Given the description of an element on the screen output the (x, y) to click on. 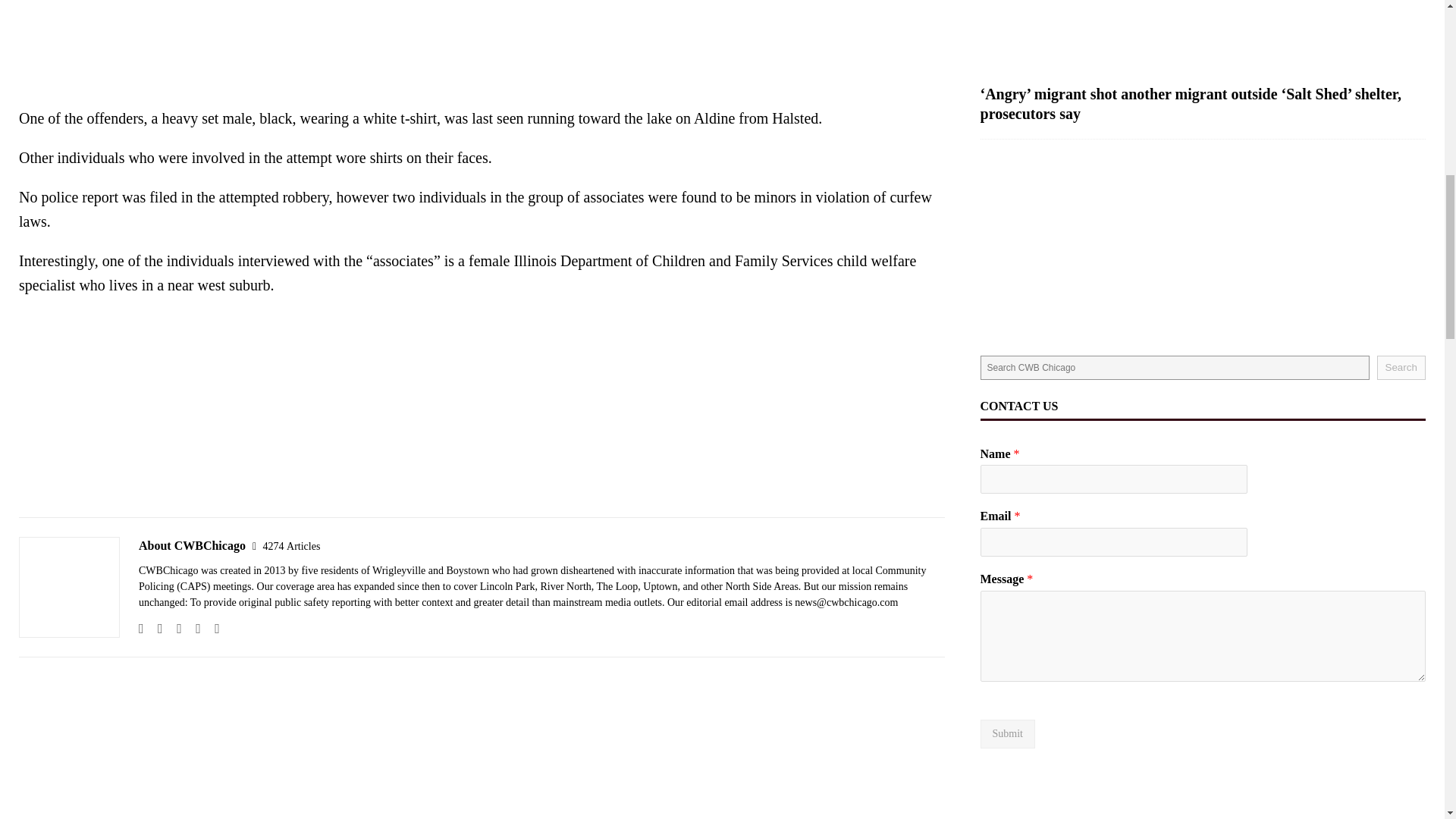
Follow CWBChicago on YouTube (211, 628)
Follow CWBChicago on Instagram (173, 628)
Submit (1007, 733)
4274 Articles (291, 546)
Follow CWBChicago on Facebook (155, 628)
Search (1401, 367)
Follow CWBChicago on Twitter (192, 628)
More articles written by CWBChicago' (291, 546)
